Given the description of an element on the screen output the (x, y) to click on. 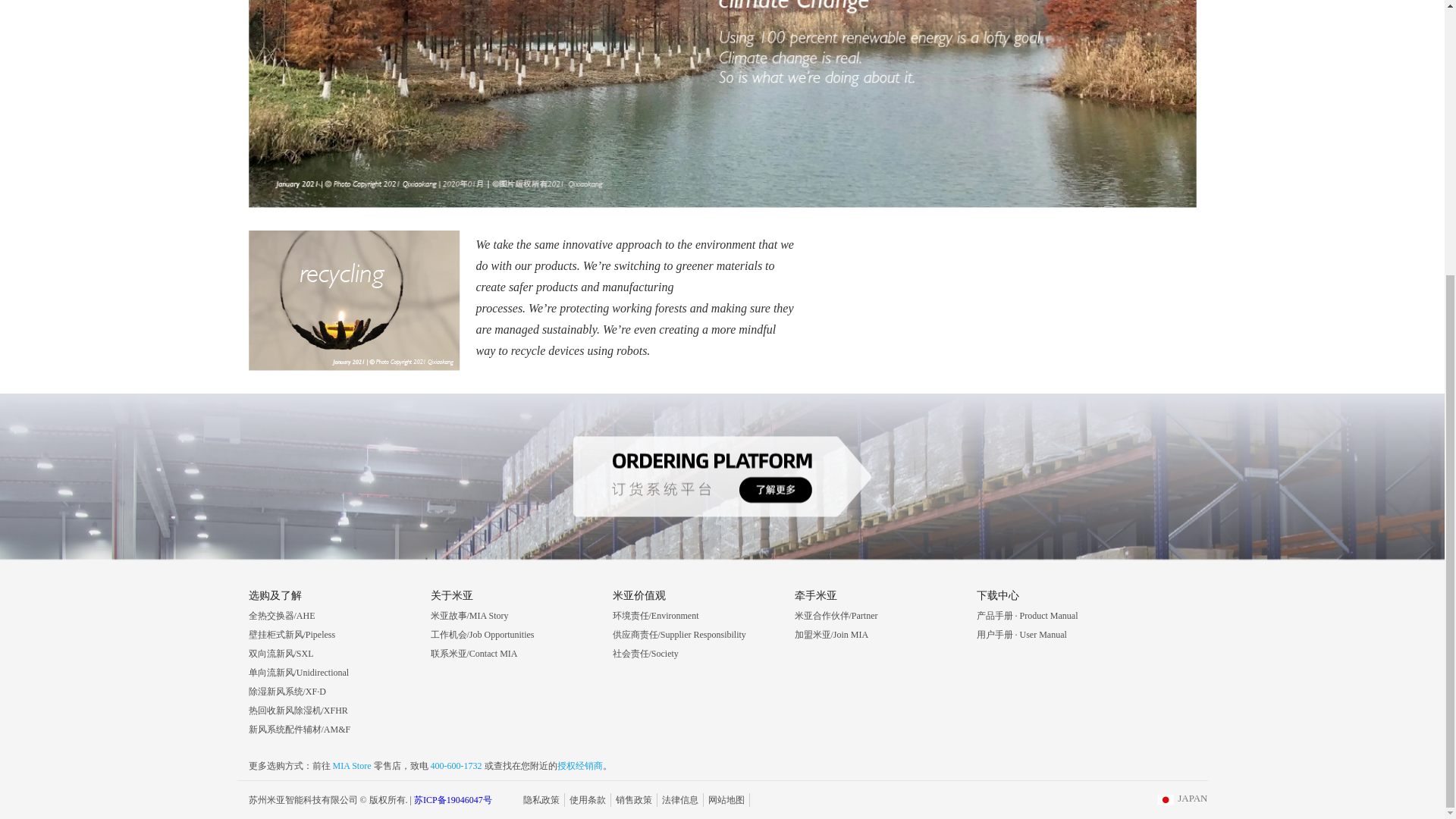
400-600-1732 (455, 765)
MIA Store (352, 765)
